Given the description of an element on the screen output the (x, y) to click on. 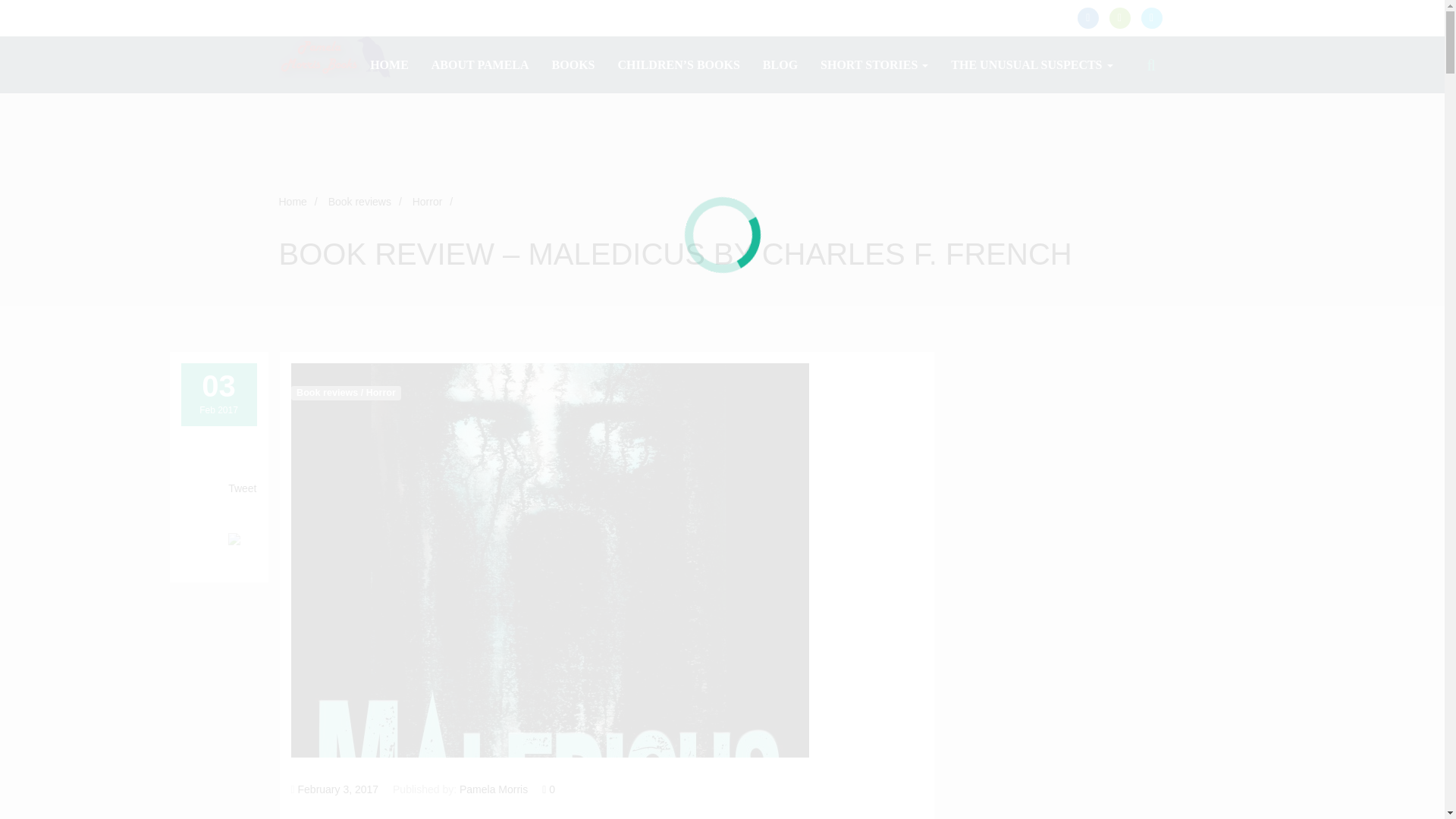
Children's Books (678, 64)
BOOKS (573, 64)
Pamela Morris (493, 788)
THE UNUSUAL SUSPECTS (1031, 64)
BLOG (780, 64)
Home (293, 201)
Blog (780, 64)
SHORT STORIES (874, 64)
Books (573, 64)
Pamela Morris (336, 56)
0 (547, 788)
February 3, 2017 (338, 788)
About Pamela (480, 64)
Horror (427, 201)
The Unusual Suspects (1031, 64)
